Given the description of an element on the screen output the (x, y) to click on. 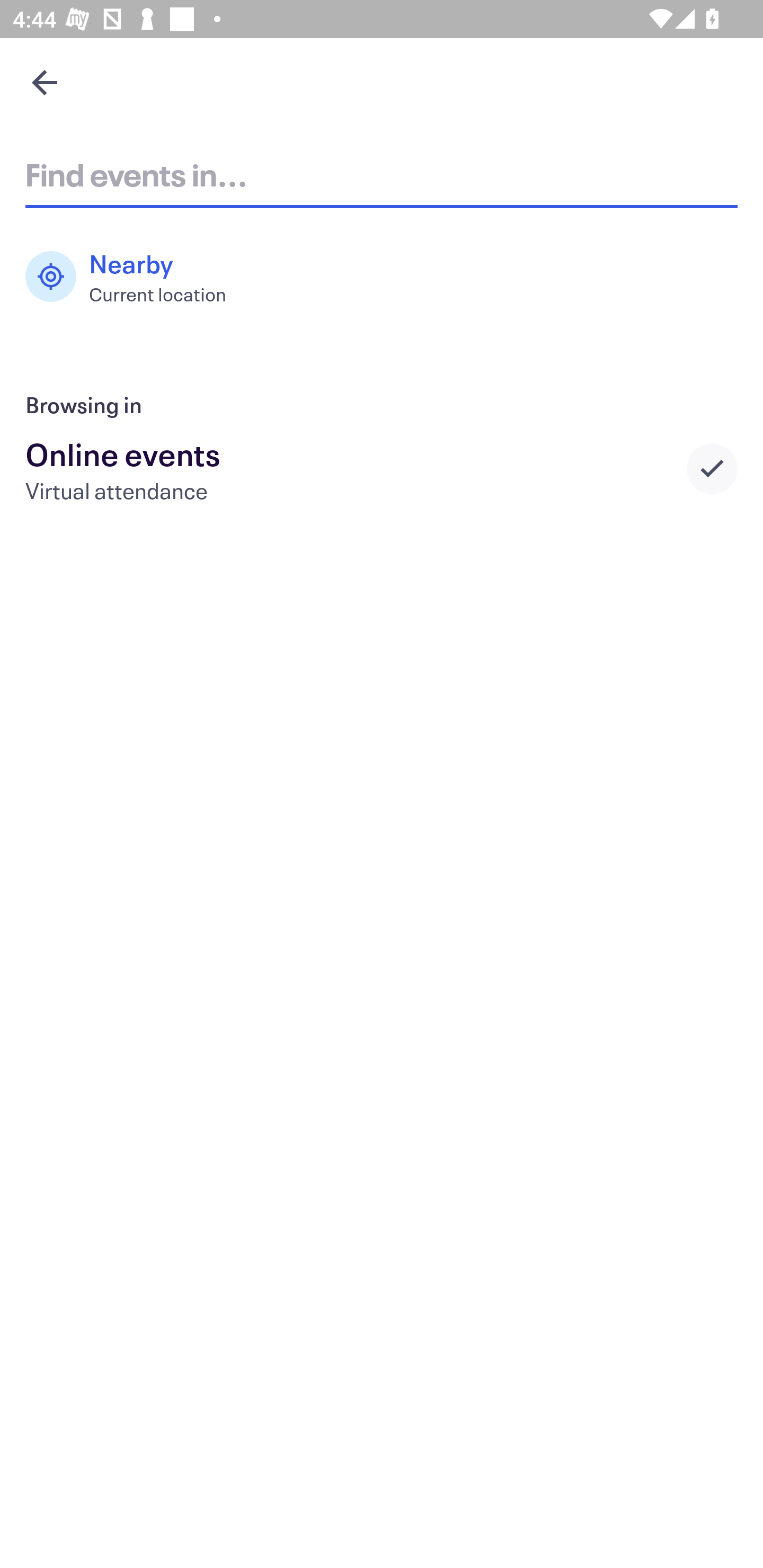
Navigate up (44, 82)
Find events in... (381, 173)
Nearby Current location (135, 276)
Online events Virtual attendance Selected city (381, 468)
